Given the description of an element on the screen output the (x, y) to click on. 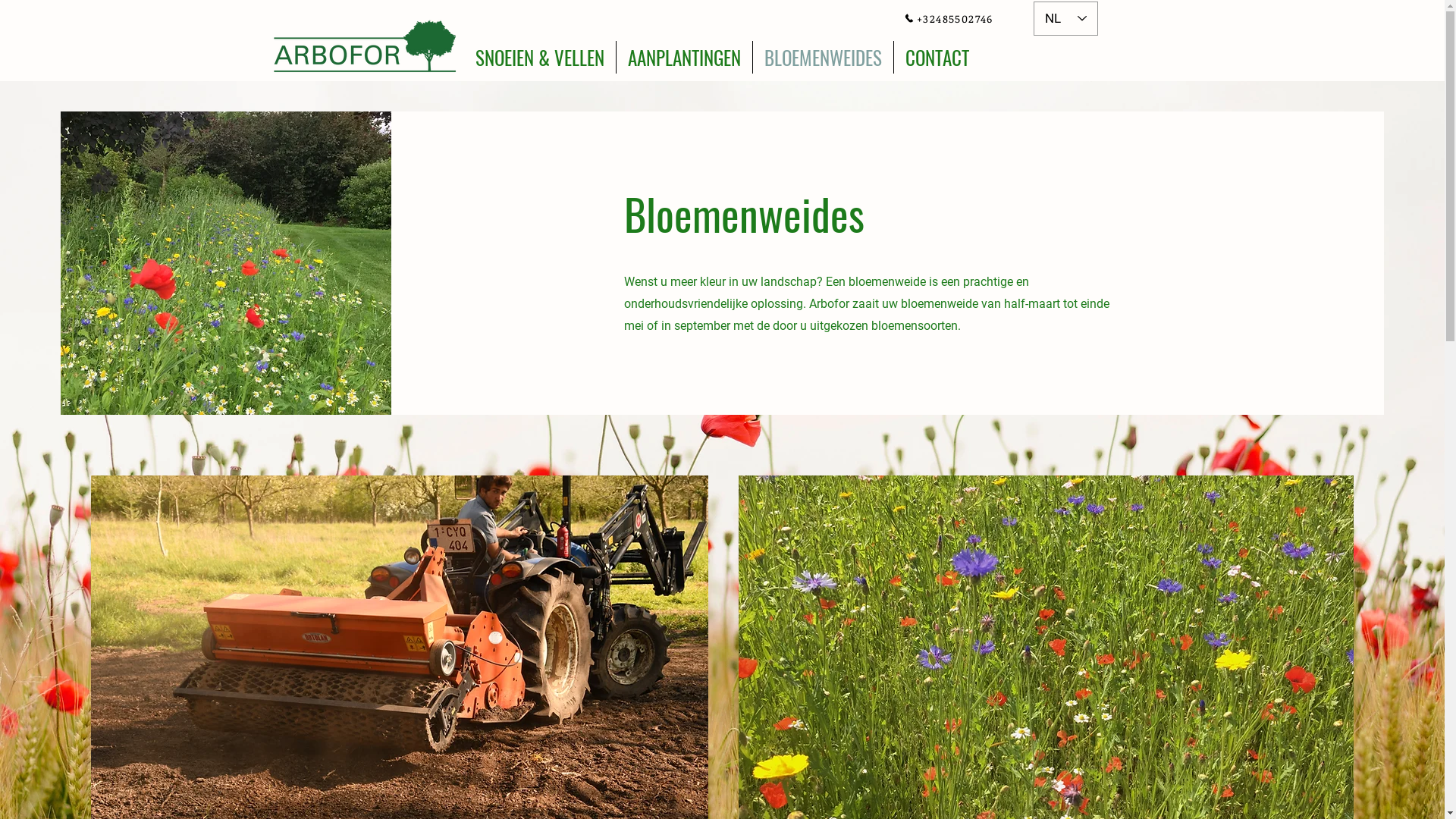
AANPLANTINGEN Element type: text (683, 56)
Arbofor%20logo_edited.png Element type: hover (363, 48)
+32485502746 Element type: text (947, 18)
TWIPLA (Visitor Analytics) Element type: hover (1442, 4)
SNOEIEN & VELLEN Element type: text (539, 56)
CONTACT Element type: text (936, 56)
BLOEMENWEIDES Element type: text (822, 56)
